Given the description of an element on the screen output the (x, y) to click on. 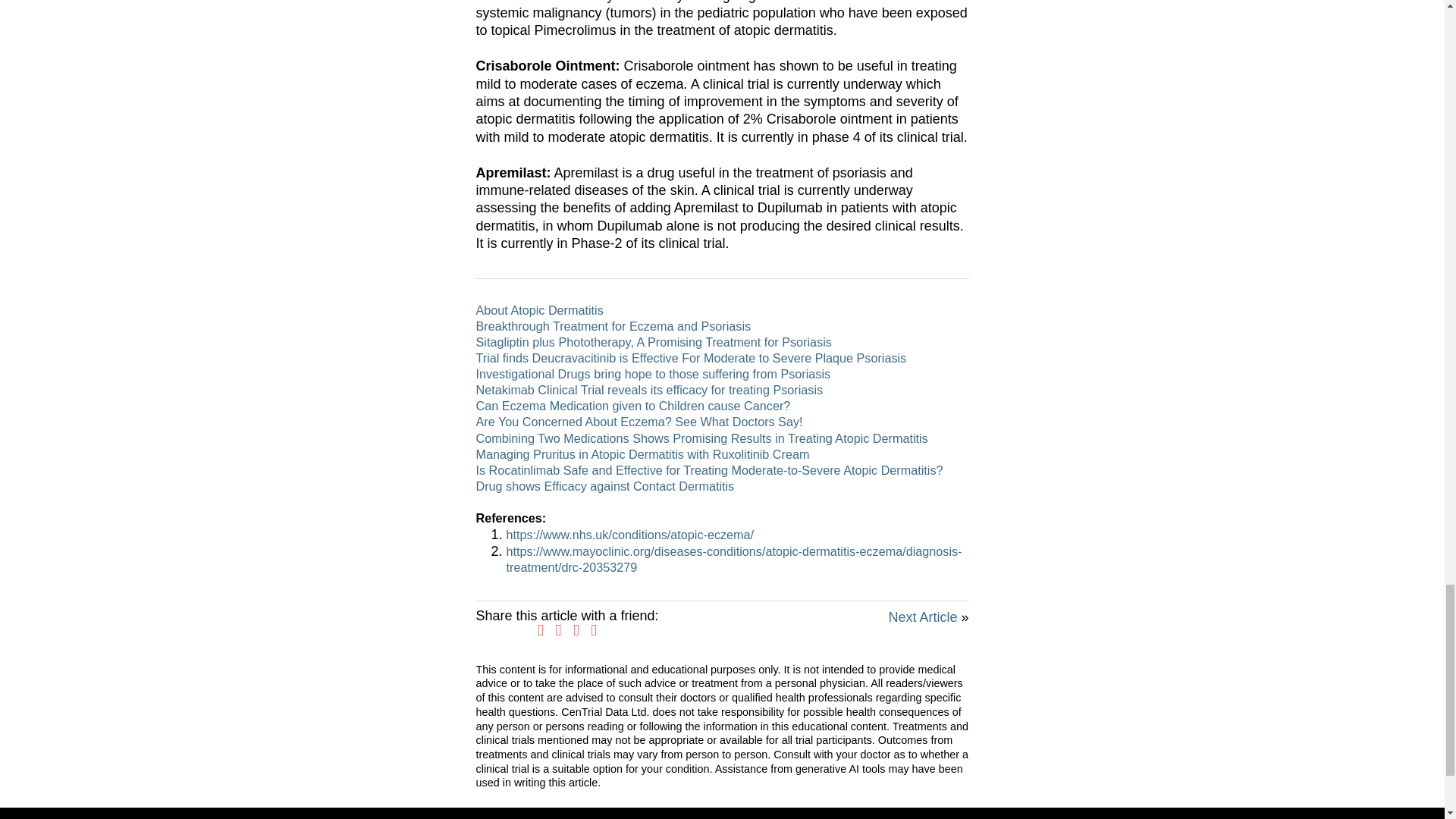
Share on Facebook (540, 629)
Are You Concerned About Eczema? See What Doctors Say! (639, 421)
LinkedIn (576, 629)
Breakthrough Treatment for Eczema and Psoriasis (613, 325)
Twitter (559, 629)
Next Article (922, 616)
Can Eczema Medication given to Children cause Cancer? (633, 405)
Drug shows Efficacy against Contact Dermatitis (605, 486)
